Given the description of an element on the screen output the (x, y) to click on. 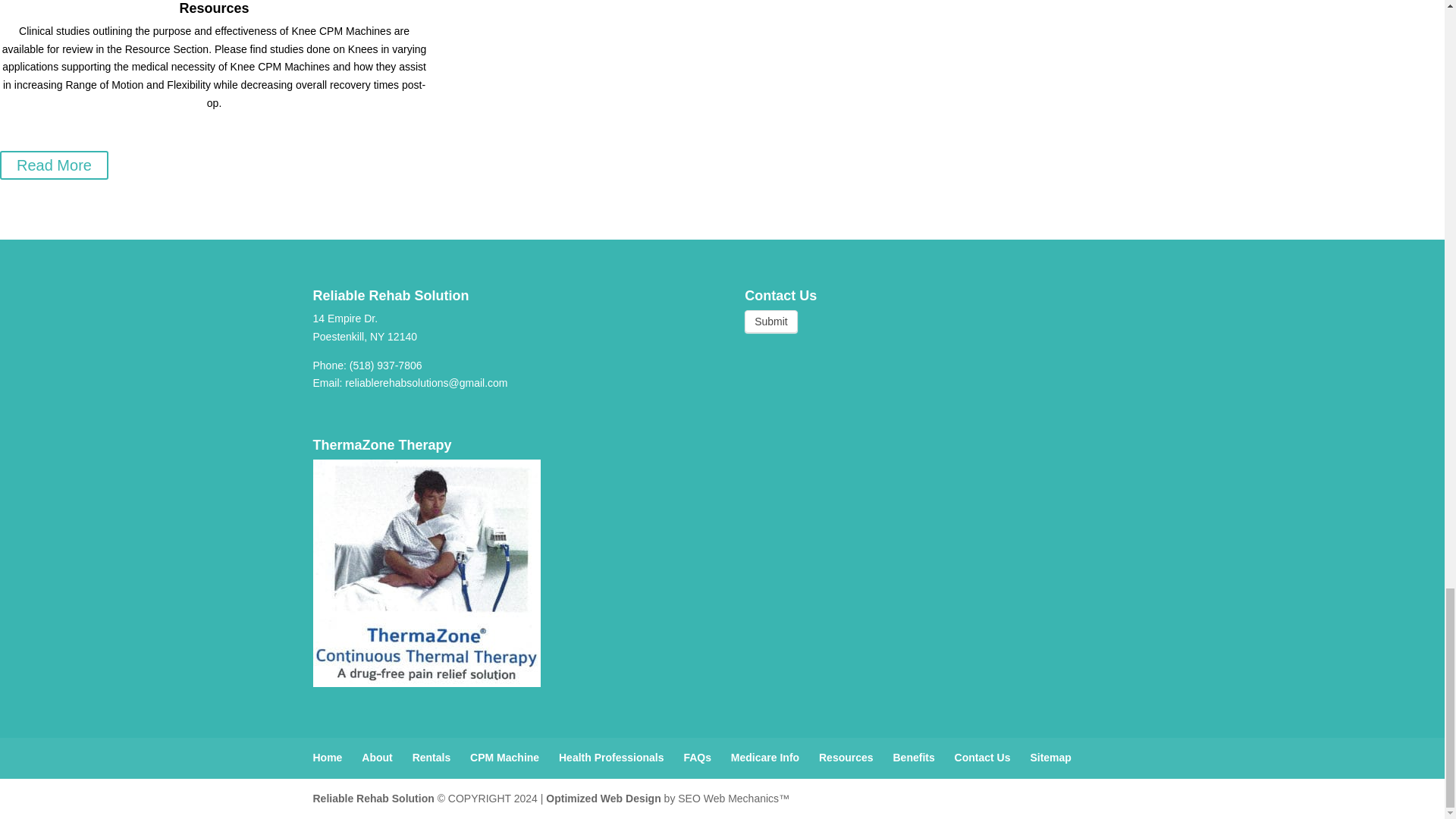
Read More (53, 164)
Submit (770, 321)
Knee CPM Rehab Machine Rentals (373, 798)
Resources (213, 7)
